Given the description of an element on the screen output the (x, y) to click on. 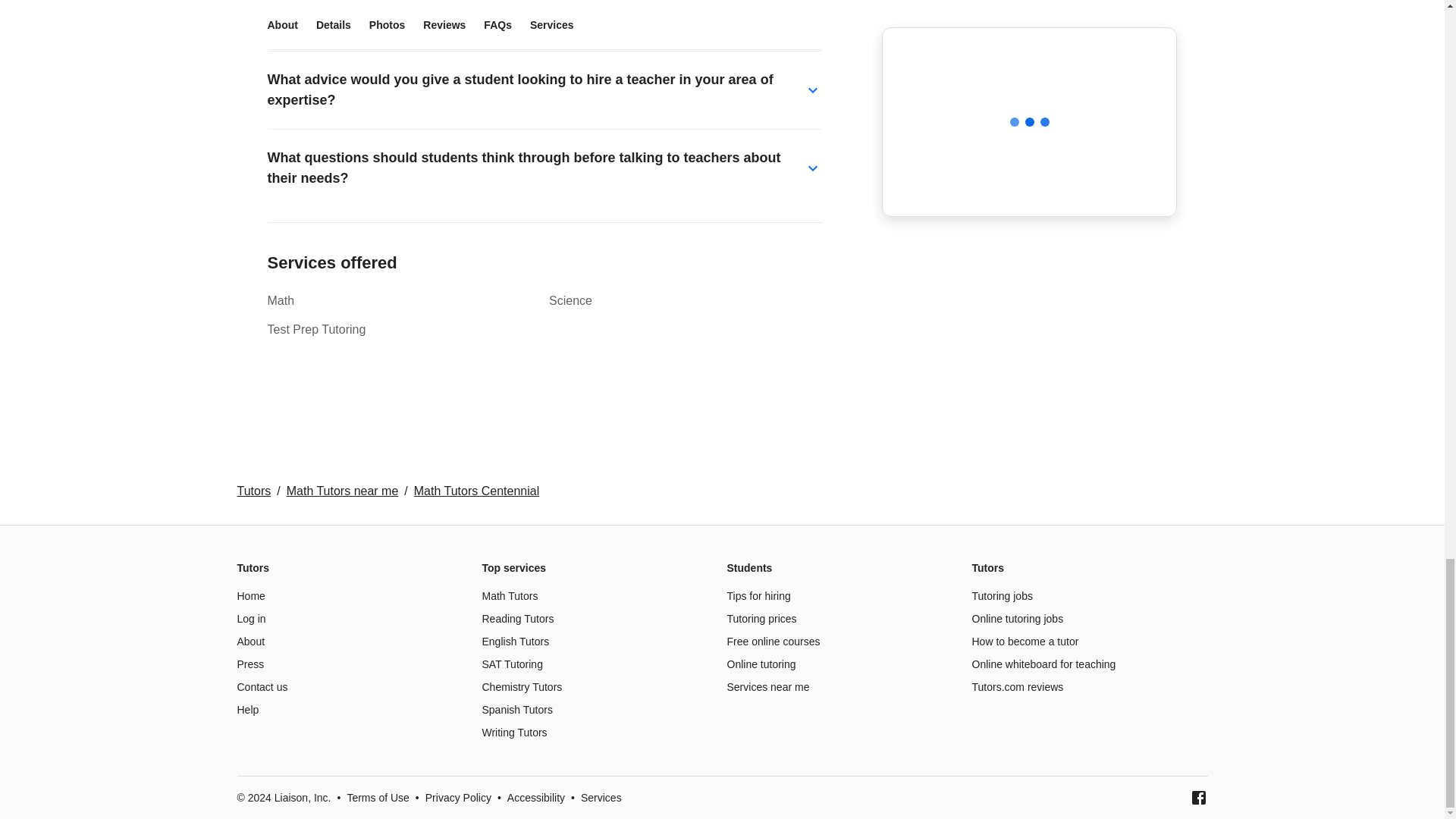
Math Tutors near me (342, 490)
Home (249, 595)
Math Tutors Centennial (475, 490)
Contact us (260, 686)
Facebook (1198, 797)
Help (247, 709)
About (249, 641)
Math Tutors (509, 595)
Log in (249, 618)
Tutors (252, 490)
